Given the description of an element on the screen output the (x, y) to click on. 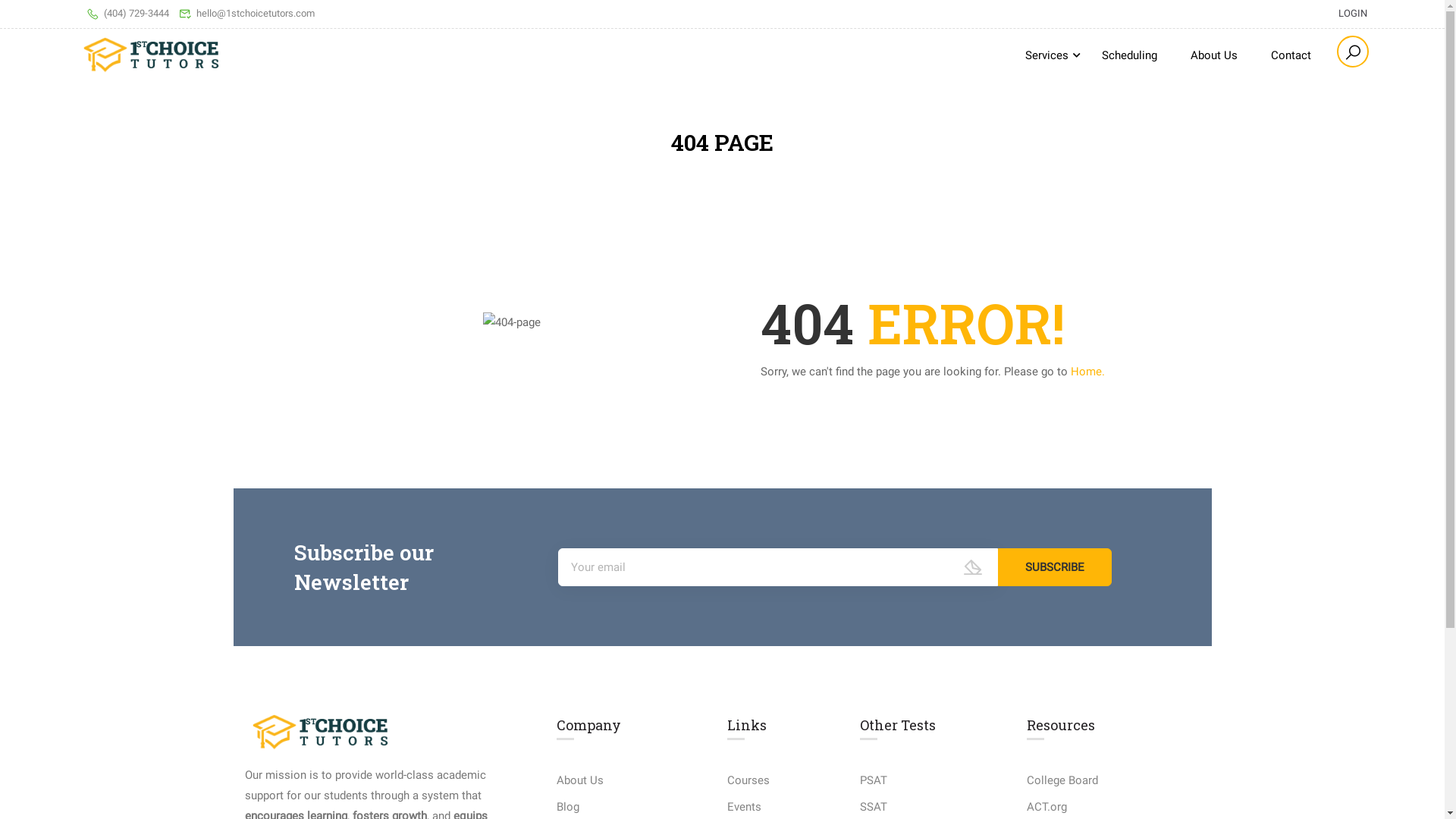
Login Element type: text (834, 437)
Subscribe Element type: text (1054, 567)
ACT.org Element type: text (1046, 806)
Scheduling Element type: text (1129, 54)
1stChoice Tutors - Math Tutoring, ACT Prep, and SAT Prep Element type: hover (151, 54)
Home. Element type: text (1087, 370)
Contact Element type: text (1290, 54)
Services Element type: text (1046, 54)
SSAT Element type: text (873, 806)
About Us Element type: text (1213, 54)
PSAT Element type: text (873, 780)
College Board Element type: text (1062, 780)
Events Element type: text (744, 806)
Blog Element type: text (567, 806)
About Us Element type: text (579, 780)
Courses Element type: text (748, 780)
LOGIN Element type: text (1345, 12)
